Given the description of an element on the screen output the (x, y) to click on. 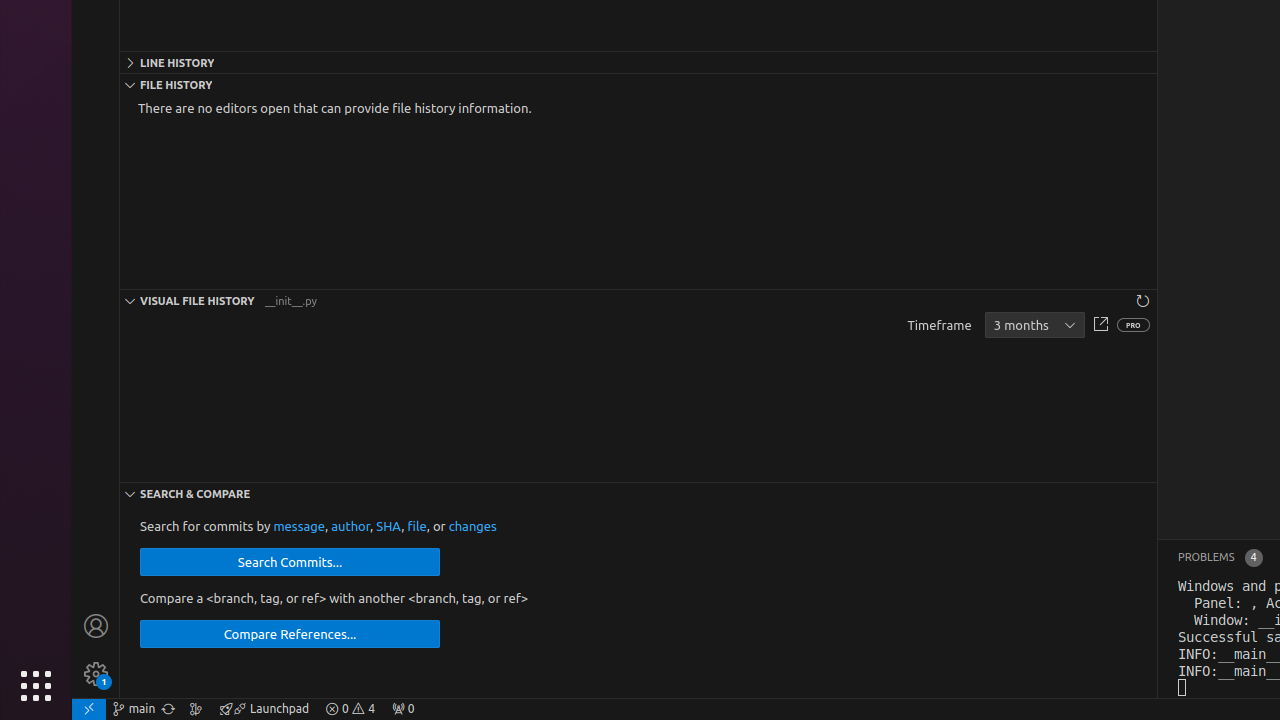
changes Element type: push-button (472, 526)
 Element type: link (1100, 325)
Compare References... Element type: push-button (290, 634)
message Element type: push-button (299, 526)
rocket gitlens-unplug Launchpad, GitLens Launchpad ᴘʀᴇᴠɪᴇᴡ    &mdash;    [$(question)](command:gitlens.launchpad.indicator.action?%22info%22 "What is this?") [$(gear)](command:workbench.action.openSettings?%22gitlens.launchpad%22 "Settings")  |  [$(circle-slash) Hide](command:gitlens.launchpad.indicator.action?%22hide%22 "Hide") --- [Launchpad](command:gitlens.launchpad.indicator.action?%info%22 "Learn about Launchpad") organizes your pull requests into actionable groups to help you focus and keep your team unblocked. It's always accessible using the `GitLens: Open Launchpad` command from the Command Palette. --- [Connect an integration](command:gitlens.showLaunchpad?%7B%22source%22%3A%22launchpad-indicator%22%7D "Connect an integration") to get started. Element type: push-button (264, 709)
